Given the description of an element on the screen output the (x, y) to click on. 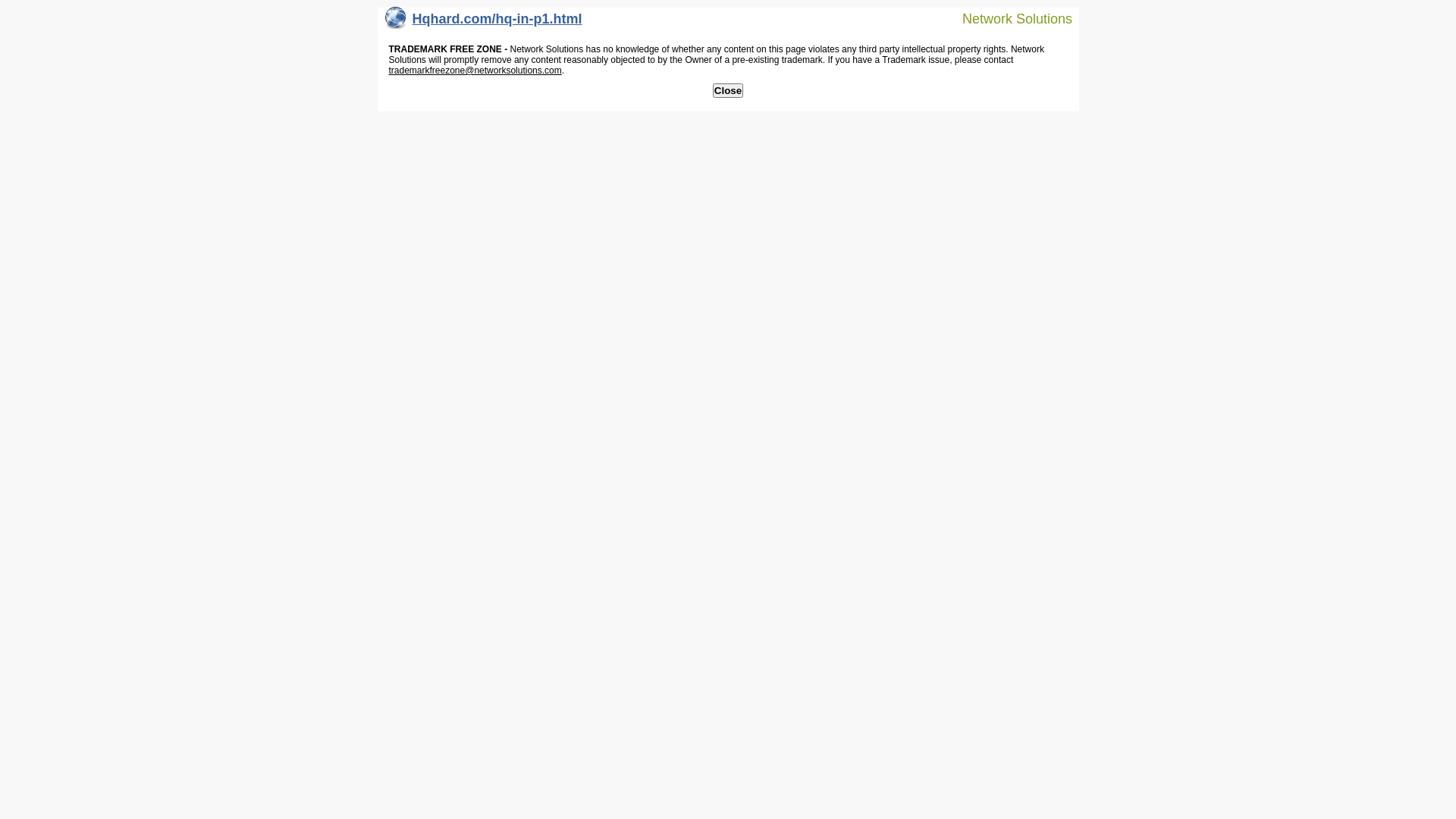
trademarkfreezone@networksolutions.com Element type: text (474, 70)
Close Element type: text (727, 90)
Network Solutions Element type: text (1007, 17)
Hqhard.com/hq-in-p1.html Element type: text (483, 21)
